Given the description of an element on the screen output the (x, y) to click on. 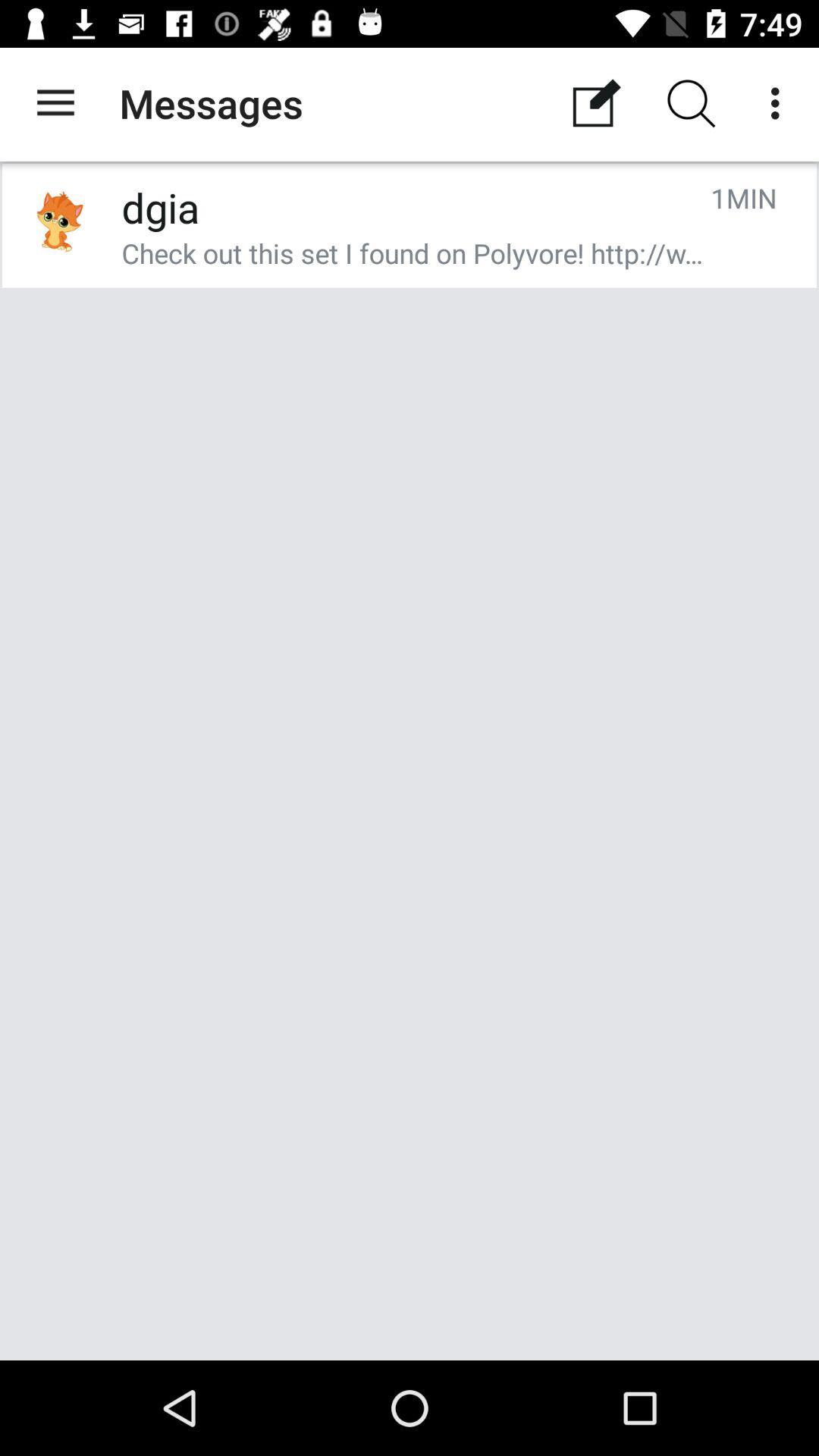
turn on the app next to the messages icon (595, 103)
